Given the description of an element on the screen output the (x, y) to click on. 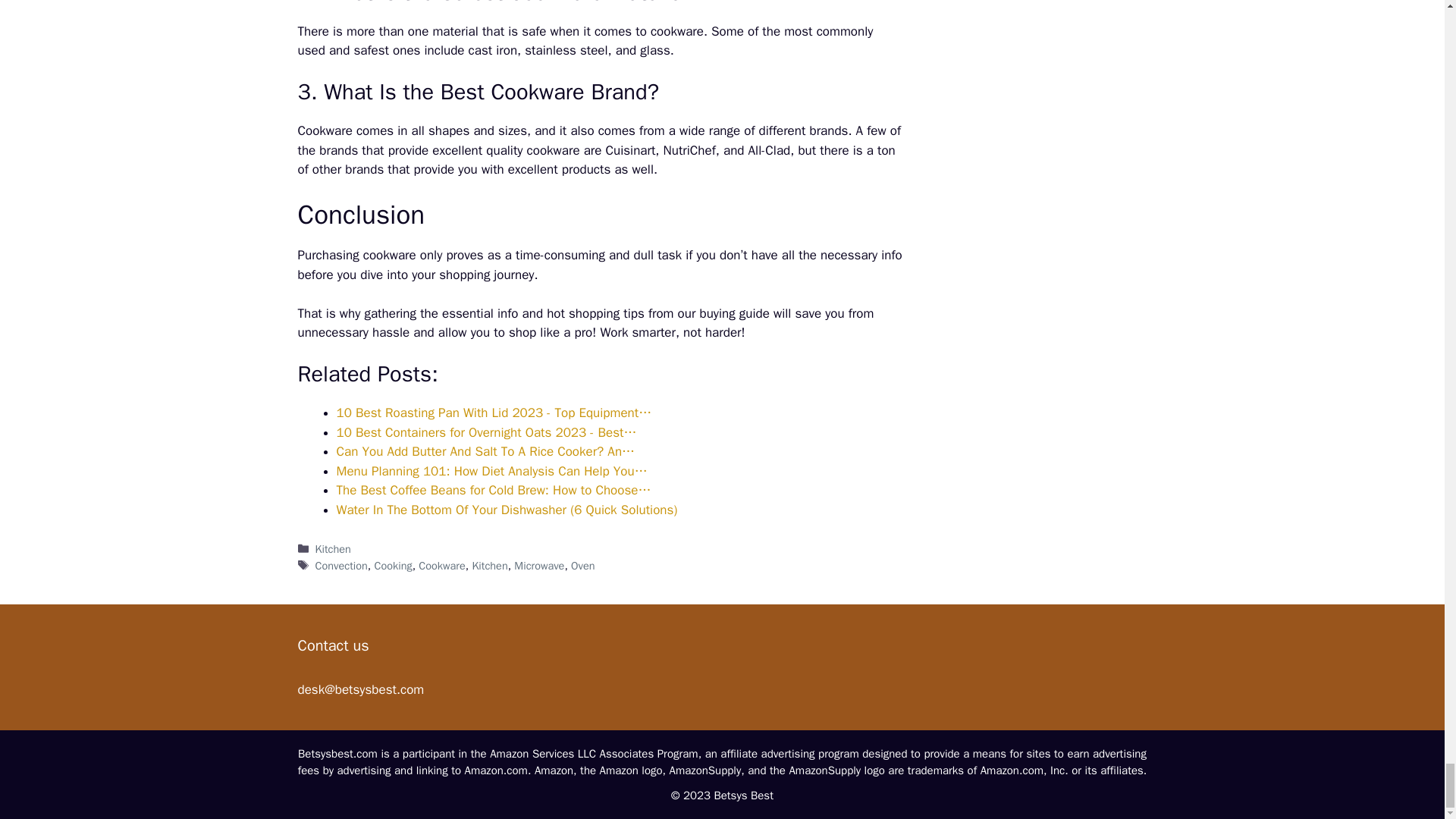
Oven (582, 565)
Kitchen (488, 565)
Kitchen (332, 549)
Microwave (538, 565)
Cooking (393, 565)
Cookware (441, 565)
Convection (341, 565)
